Given the description of an element on the screen output the (x, y) to click on. 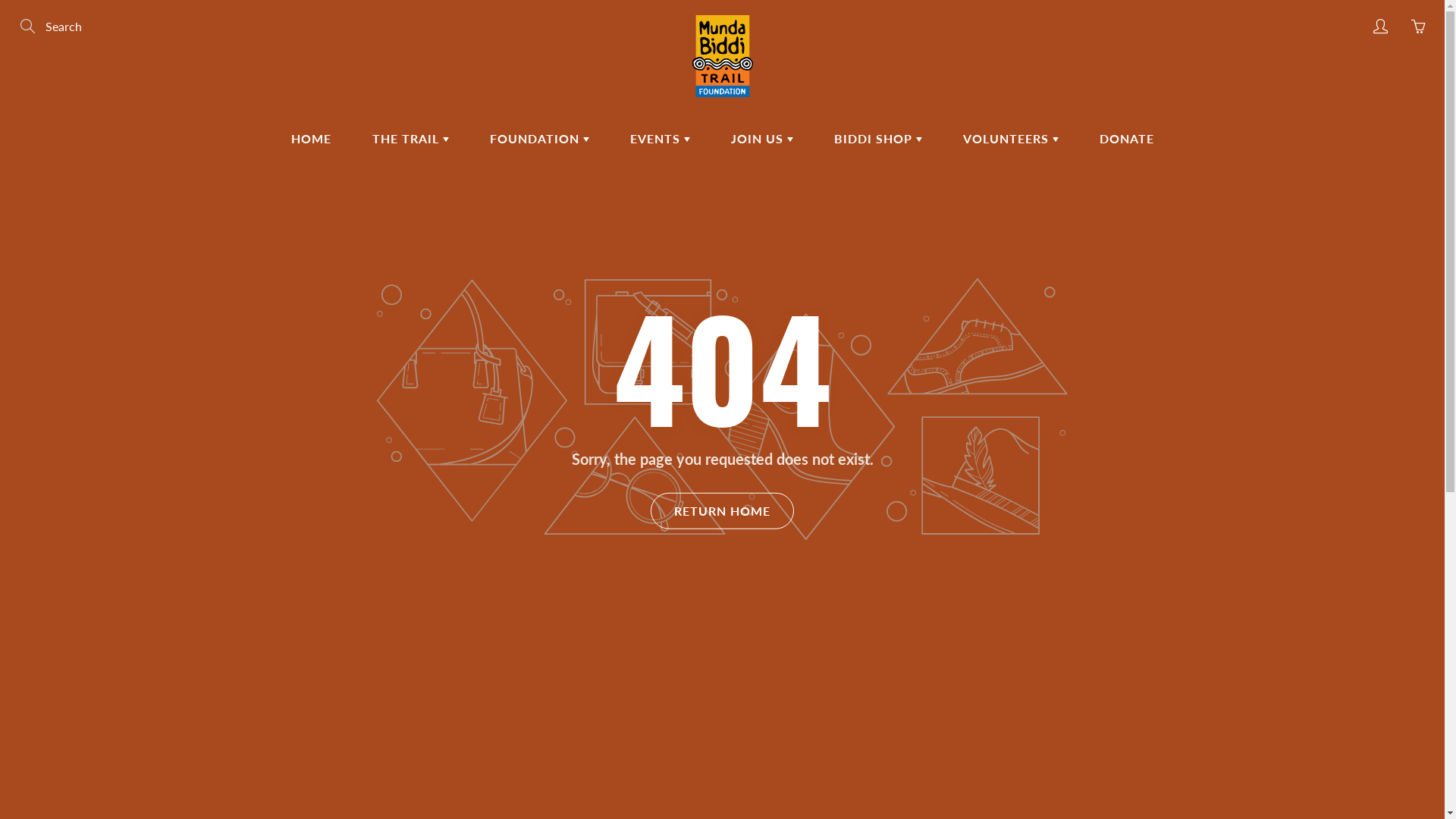
THE TRAIL Element type: text (410, 138)
RETURN HOME Element type: text (721, 510)
FOUNDATION Element type: text (538, 138)
My account Element type: text (1379, 26)
JOIN US Element type: text (761, 138)
You have 0 items in your cart Element type: text (1417, 26)
HOME Element type: text (310, 138)
EVENTS Element type: text (660, 138)
DONATE Element type: text (1125, 138)
BIDDI SHOP Element type: text (877, 138)
VOLUNTEERS Element type: text (1009, 138)
Search Element type: text (28, 26)
